Given the description of an element on the screen output the (x, y) to click on. 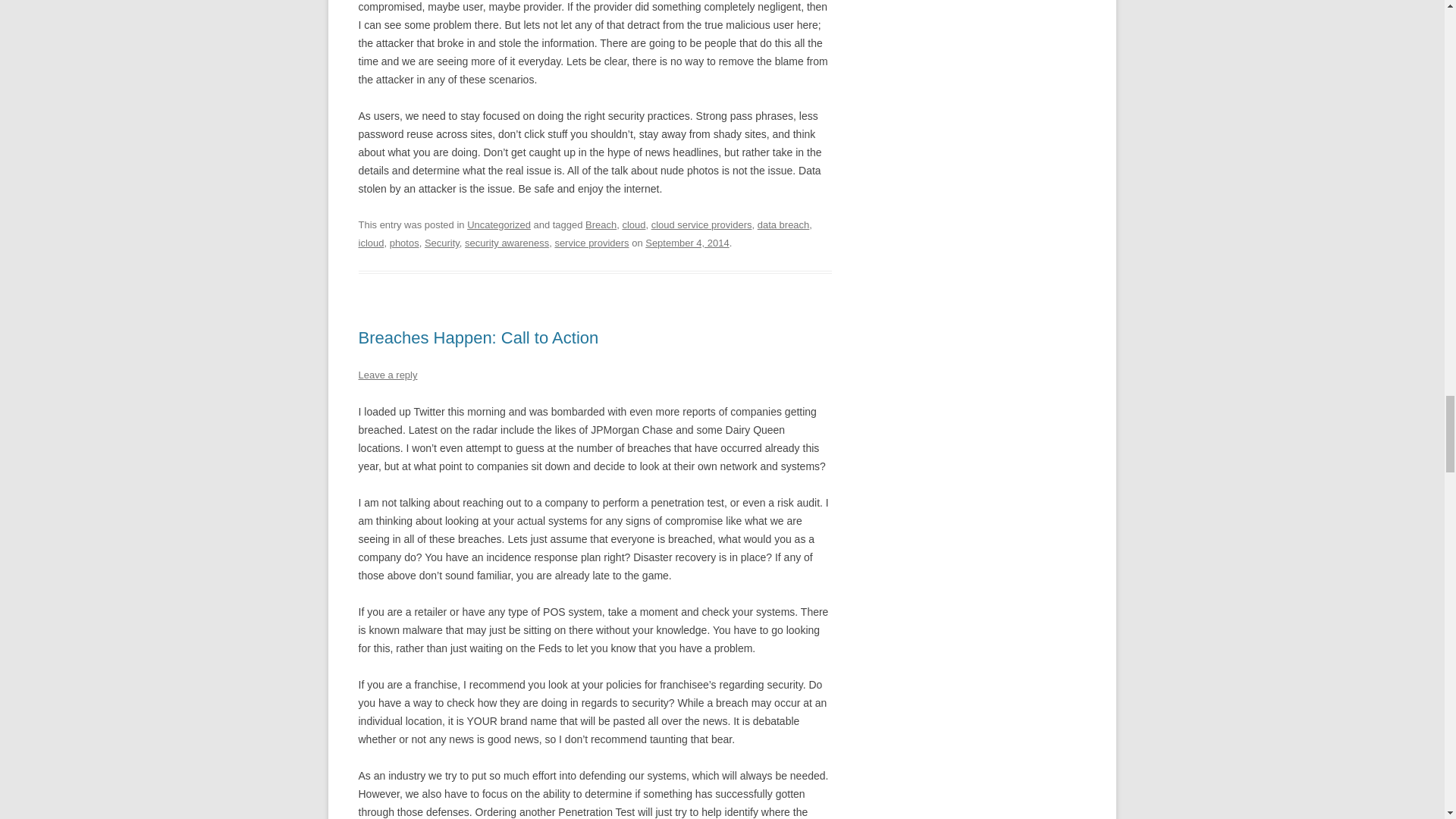
10:03 pm (687, 242)
